Given the description of an element on the screen output the (x, y) to click on. 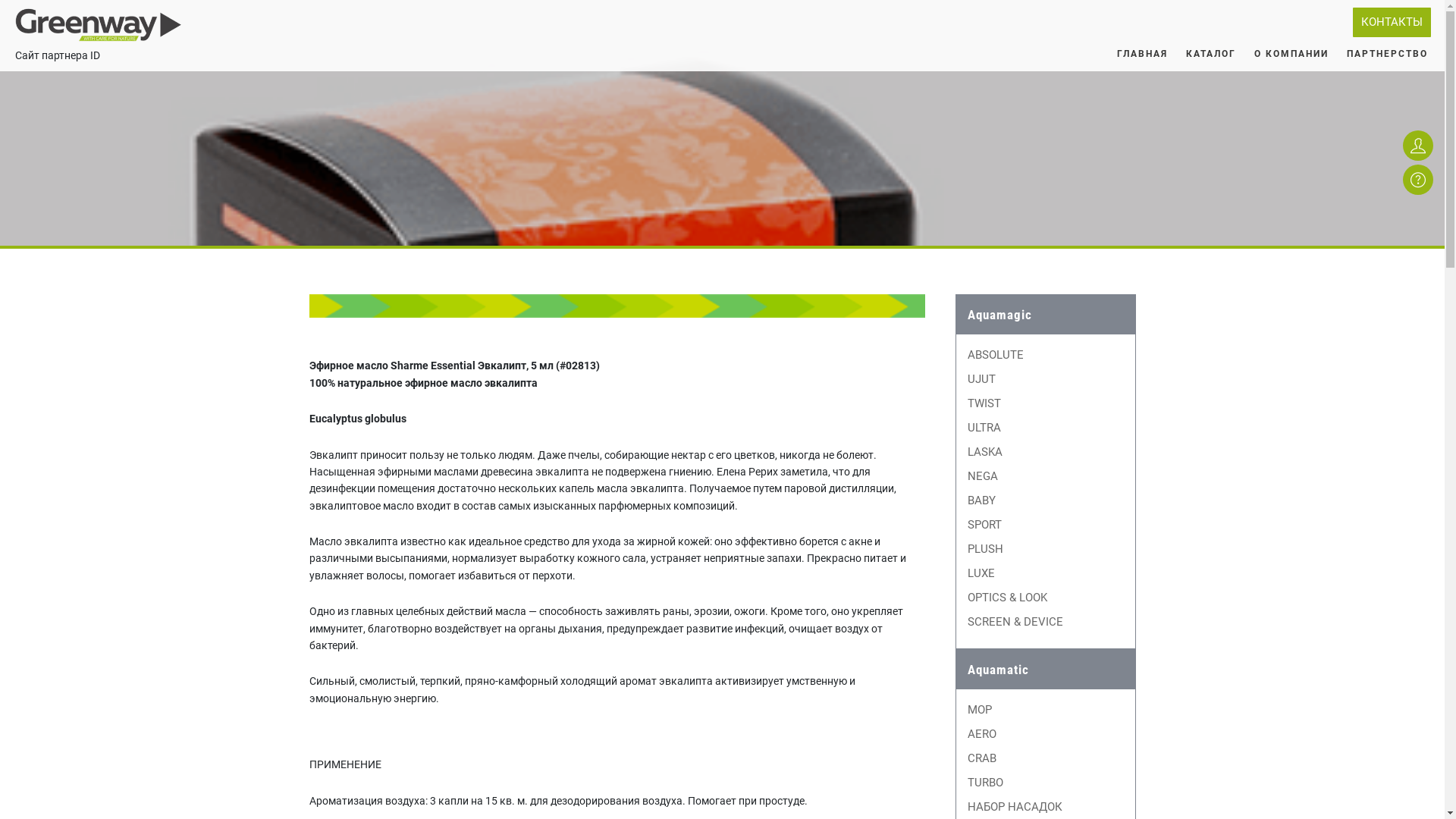
MOP Element type: text (979, 709)
OPTICS & LOOK Element type: text (1007, 597)
LASKA Element type: text (984, 451)
PLUSH Element type: text (985, 548)
BABY Element type: text (981, 500)
ABSOLUTE Element type: text (995, 354)
NEGA Element type: text (982, 476)
SPORT Element type: text (984, 524)
SCREEN & DEVICE Element type: text (1015, 621)
Aquamagic Element type: text (1045, 314)
ULTRA Element type: text (984, 427)
LUXE Element type: text (980, 573)
Aquamatic Element type: text (1045, 669)
TWIST Element type: text (984, 403)
CRAB Element type: text (981, 758)
UJUT Element type: text (981, 378)
AERO Element type: text (981, 733)
TURBO Element type: text (985, 782)
